Given the description of an element on the screen output the (x, y) to click on. 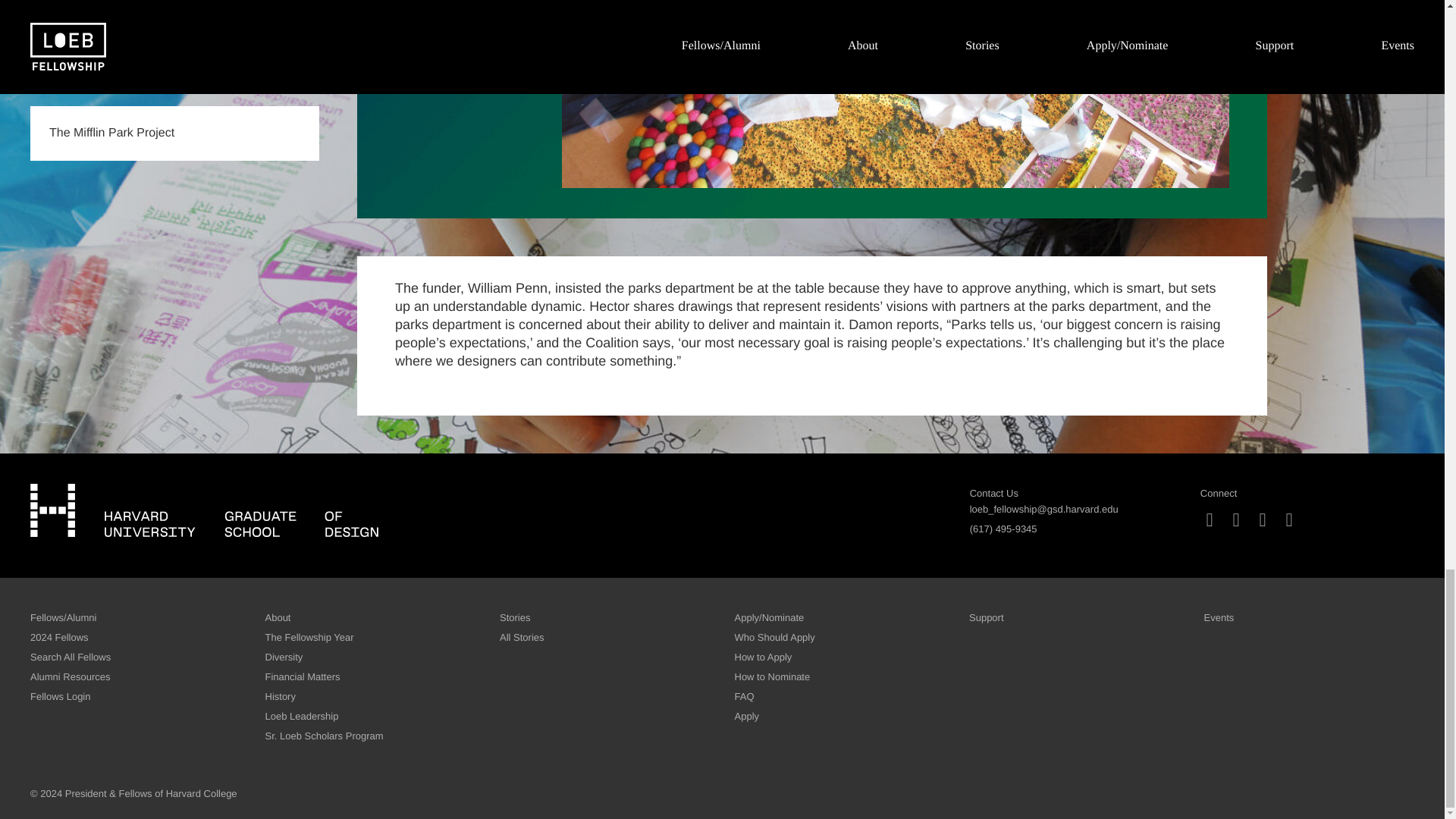
Visit us on Instagram (1209, 520)
Contact Us (993, 492)
Harvard Graduate School of Design (204, 510)
